Given the description of an element on the screen output the (x, y) to click on. 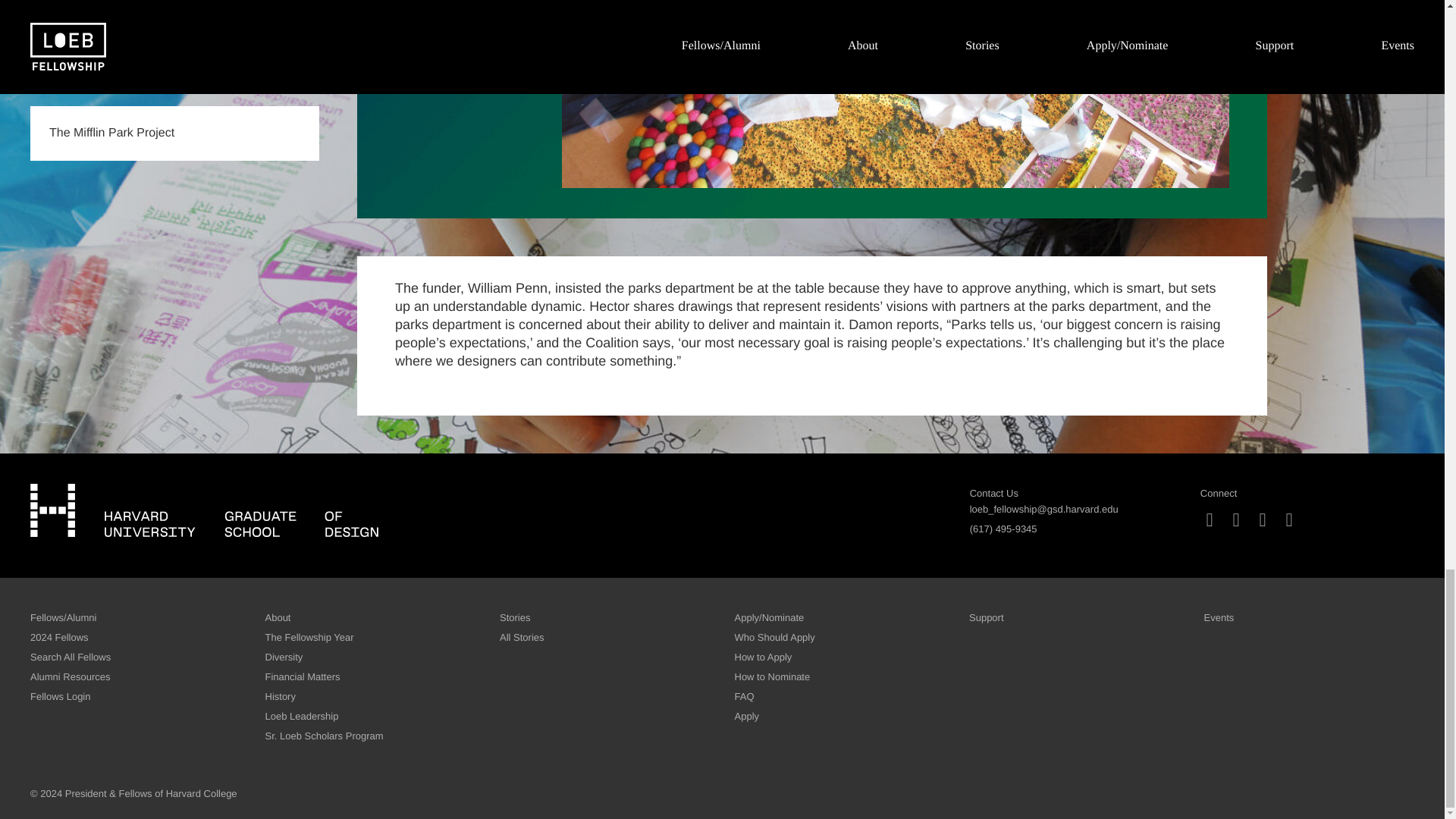
Visit us on Instagram (1209, 520)
Contact Us (993, 492)
Harvard Graduate School of Design (204, 510)
